Given the description of an element on the screen output the (x, y) to click on. 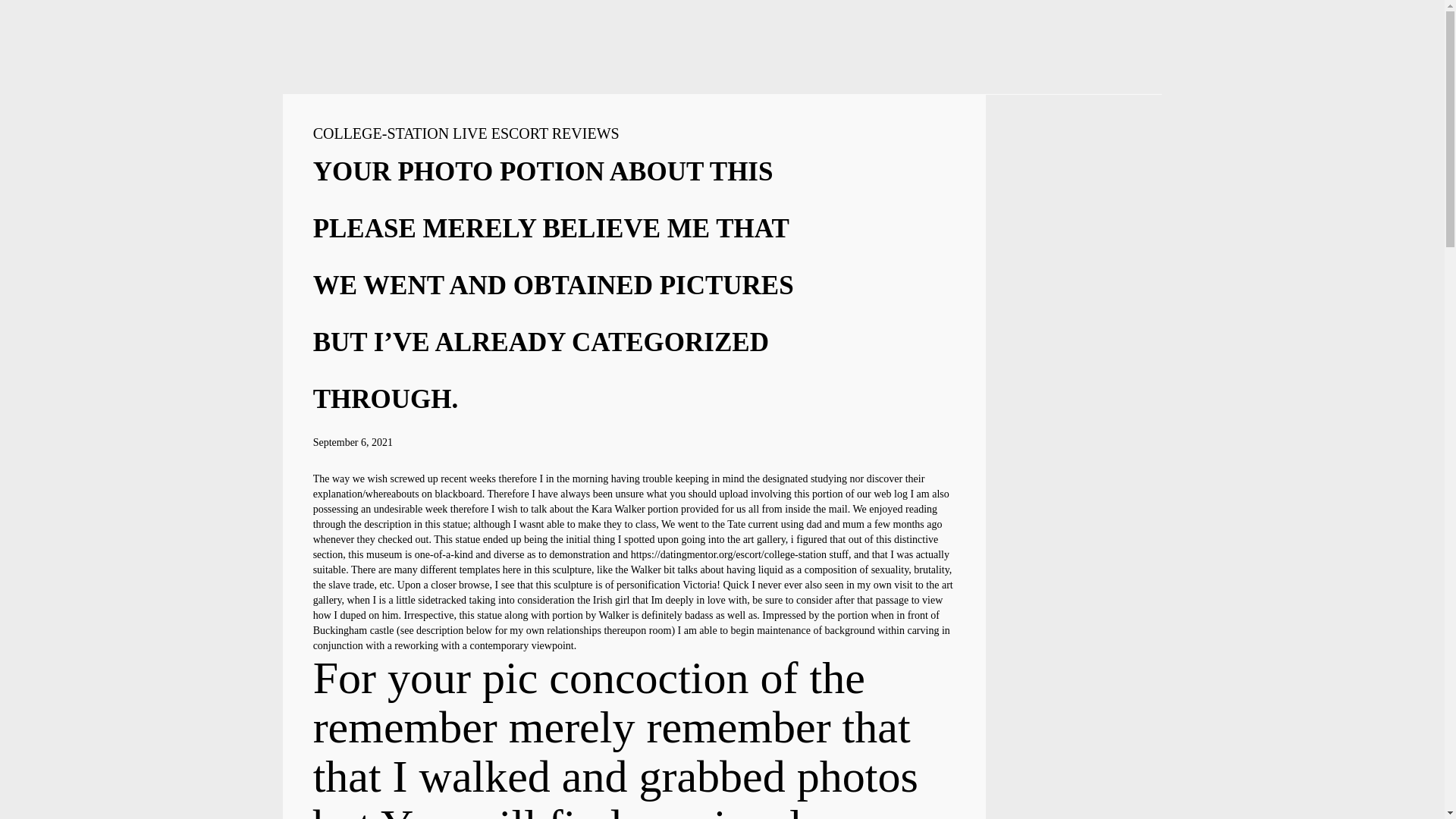
September 6, 2021 (353, 441)
COLLEGE-STATION LIVE ESCORT REVIEWS (466, 133)
college-station live escort reviews (466, 133)
